Given the description of an element on the screen output the (x, y) to click on. 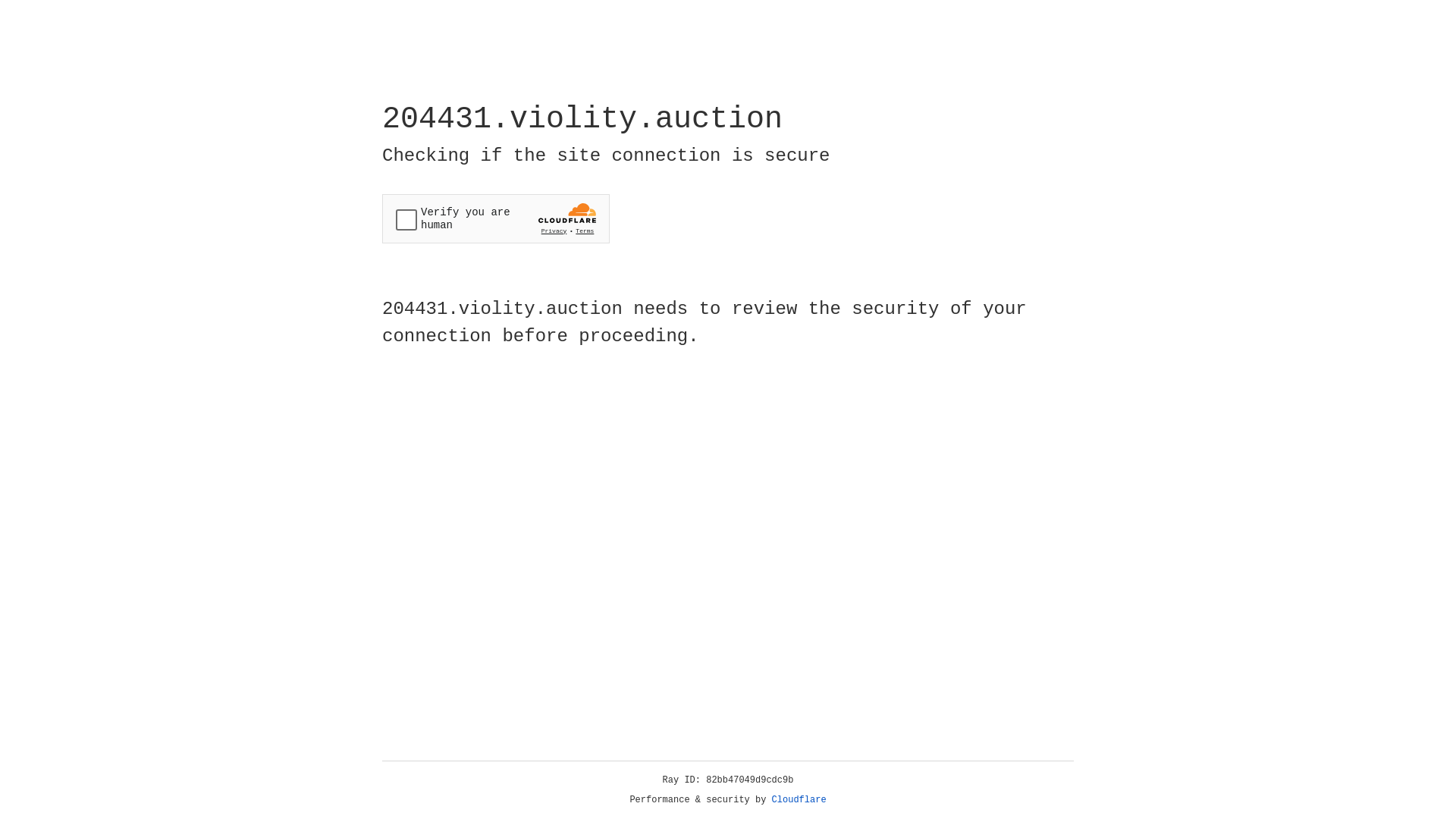
Cloudflare Element type: text (798, 799)
Widget containing a Cloudflare security challenge Element type: hover (495, 218)
